Given the description of an element on the screen output the (x, y) to click on. 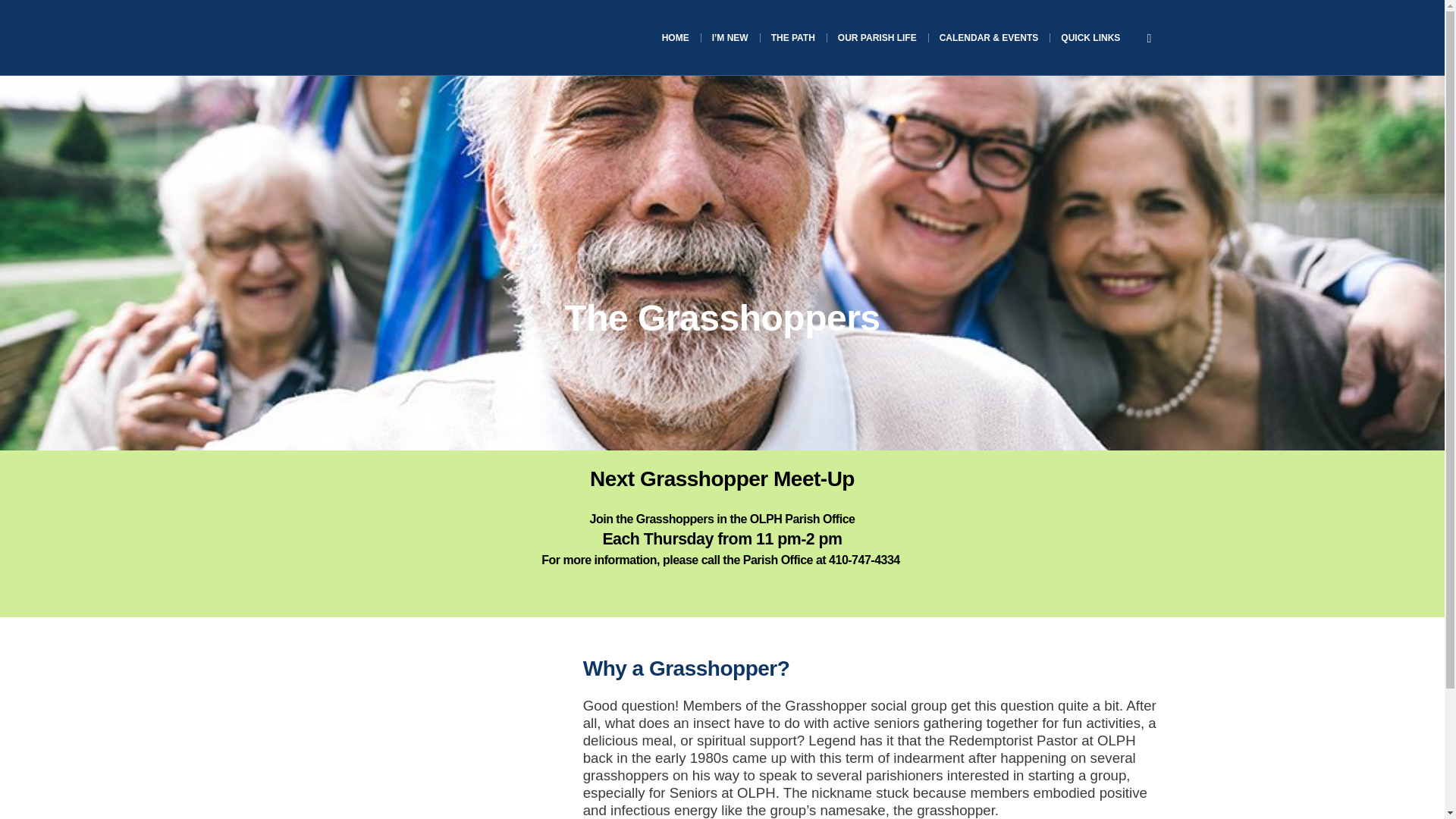
THE PATH (793, 37)
OUR PARISH LIFE (877, 37)
